Given the description of an element on the screen output the (x, y) to click on. 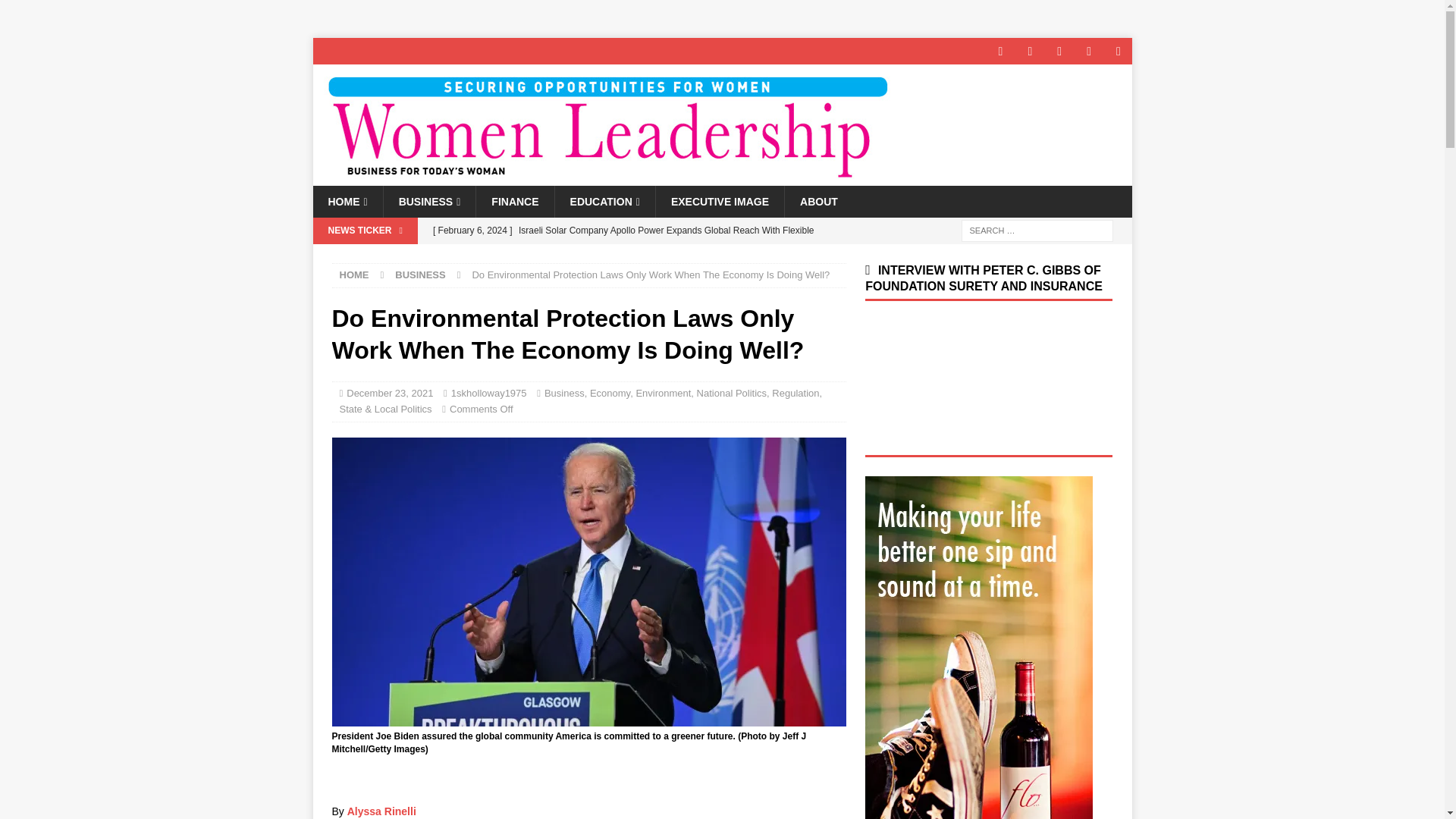
BUSINESS (429, 201)
Women Leadership Magazine USA (604, 177)
EXECUTIVE IMAGE (719, 201)
EDUCATION (604, 201)
ABOUT (818, 201)
FINANCE (514, 201)
HOME (347, 201)
